Given the description of an element on the screen output the (x, y) to click on. 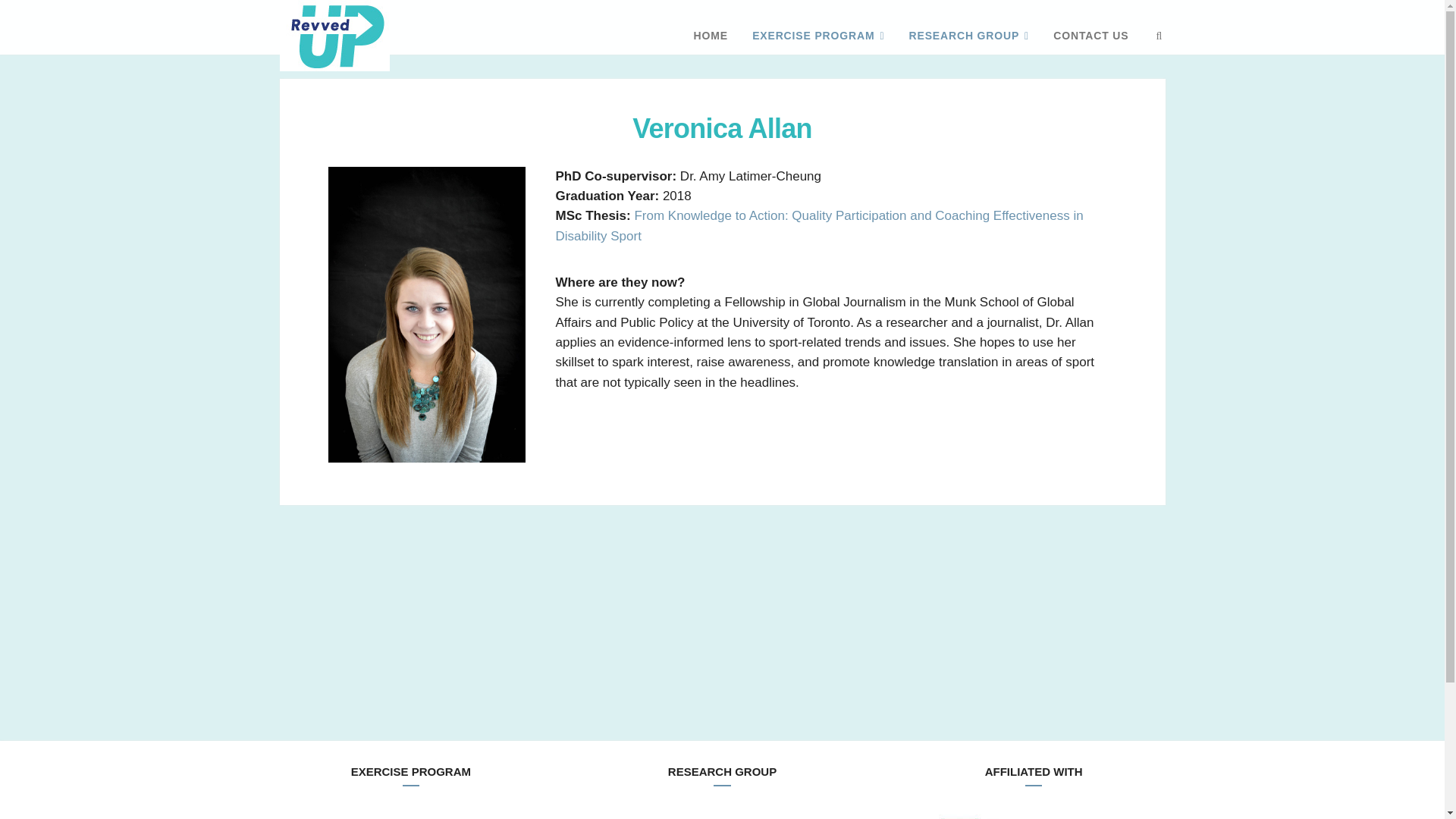
Affiliated with (1021, 816)
HOME (710, 35)
Search (1158, 35)
RESEARCH GROUP (968, 35)
EXERCISE PROGRAM (817, 35)
CONTACT US (1090, 35)
